Given the description of an element on the screen output the (x, y) to click on. 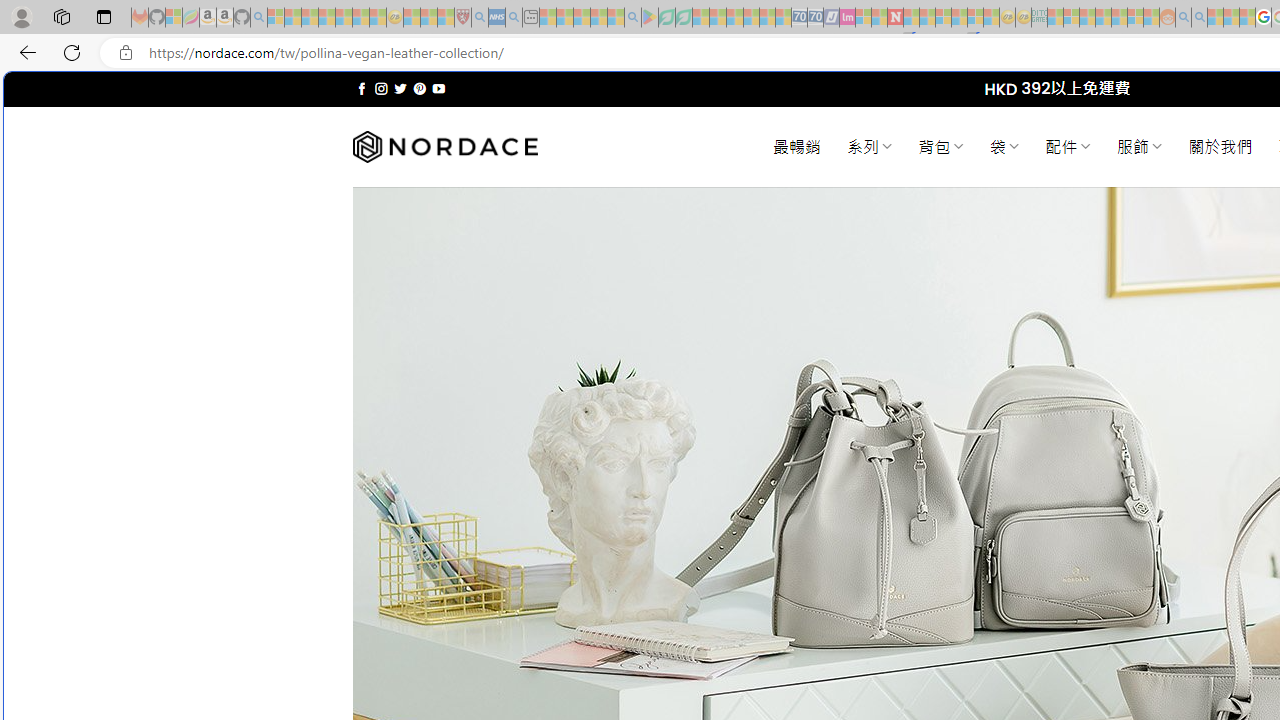
Follow on Twitter (400, 88)
